Given the description of an element on the screen output the (x, y) to click on. 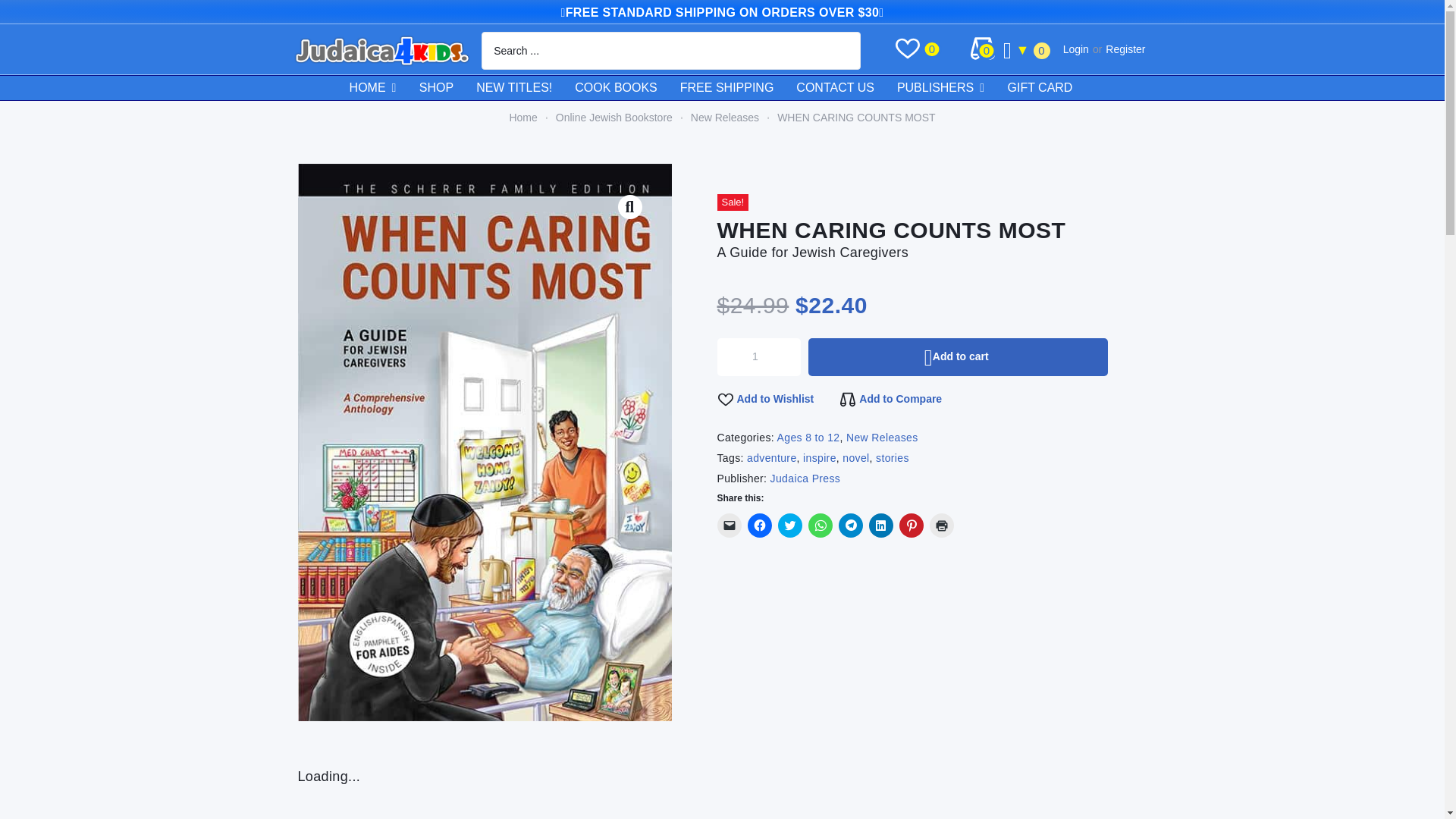
Shop (447, 87)
FREE SHIPPING (737, 87)
0 (931, 50)
PUBLISHERS (951, 87)
Click to email a link to a friend (729, 525)
Home (522, 117)
Click to share on Twitter (789, 525)
Home (522, 117)
SHOP (447, 87)
GIFT CARD (1050, 87)
Click to share on WhatsApp (820, 525)
Login (1075, 49)
Online Jewish Bookstore (614, 117)
0 (985, 50)
COOK BOOKS (627, 87)
